Given the description of an element on the screen output the (x, y) to click on. 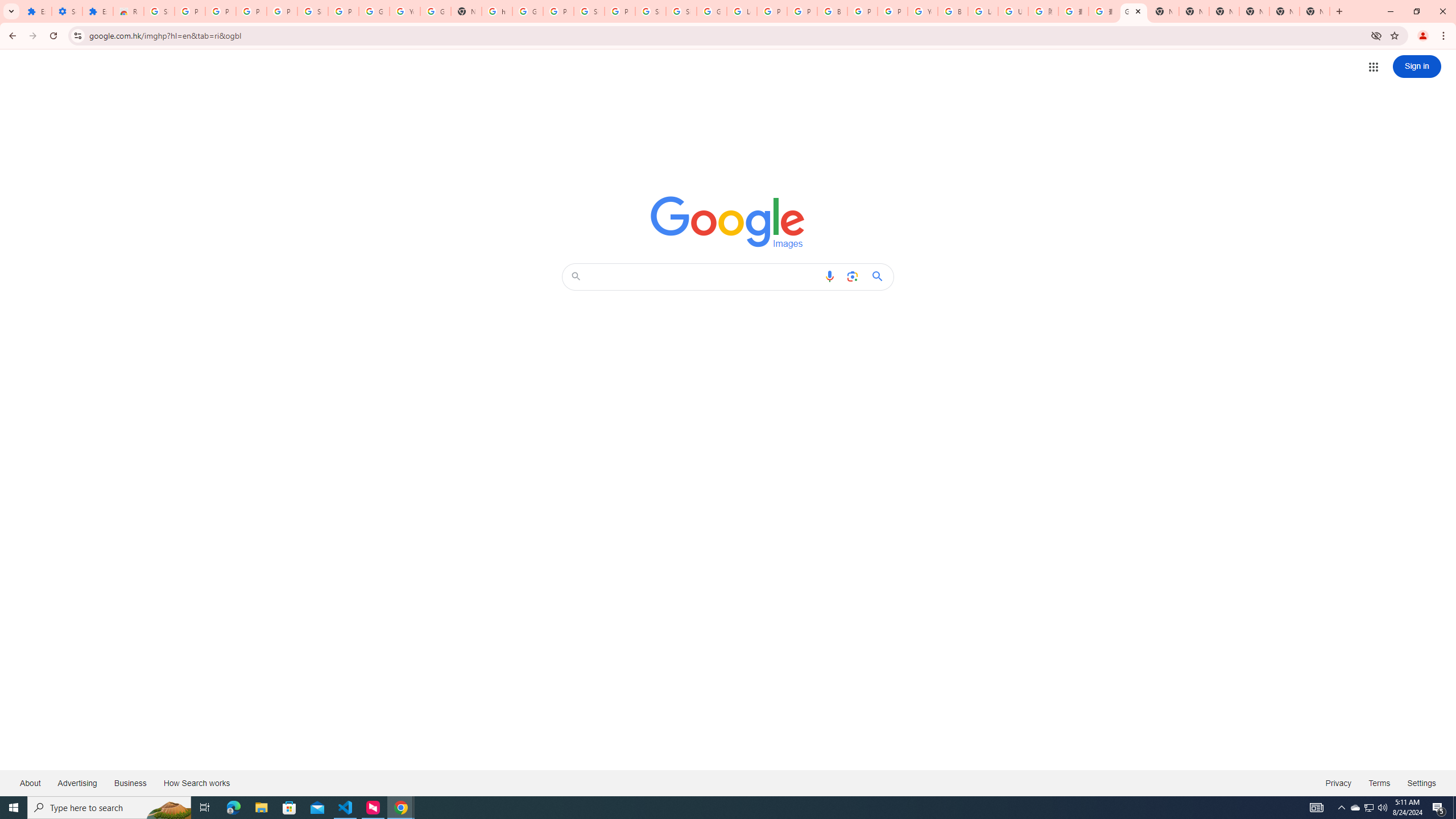
Extensions (97, 11)
About (30, 782)
https://scholar.google.com/ (496, 11)
Google Images (727, 222)
Privacy Help Center - Policies Help (771, 11)
